Given the description of an element on the screen output the (x, y) to click on. 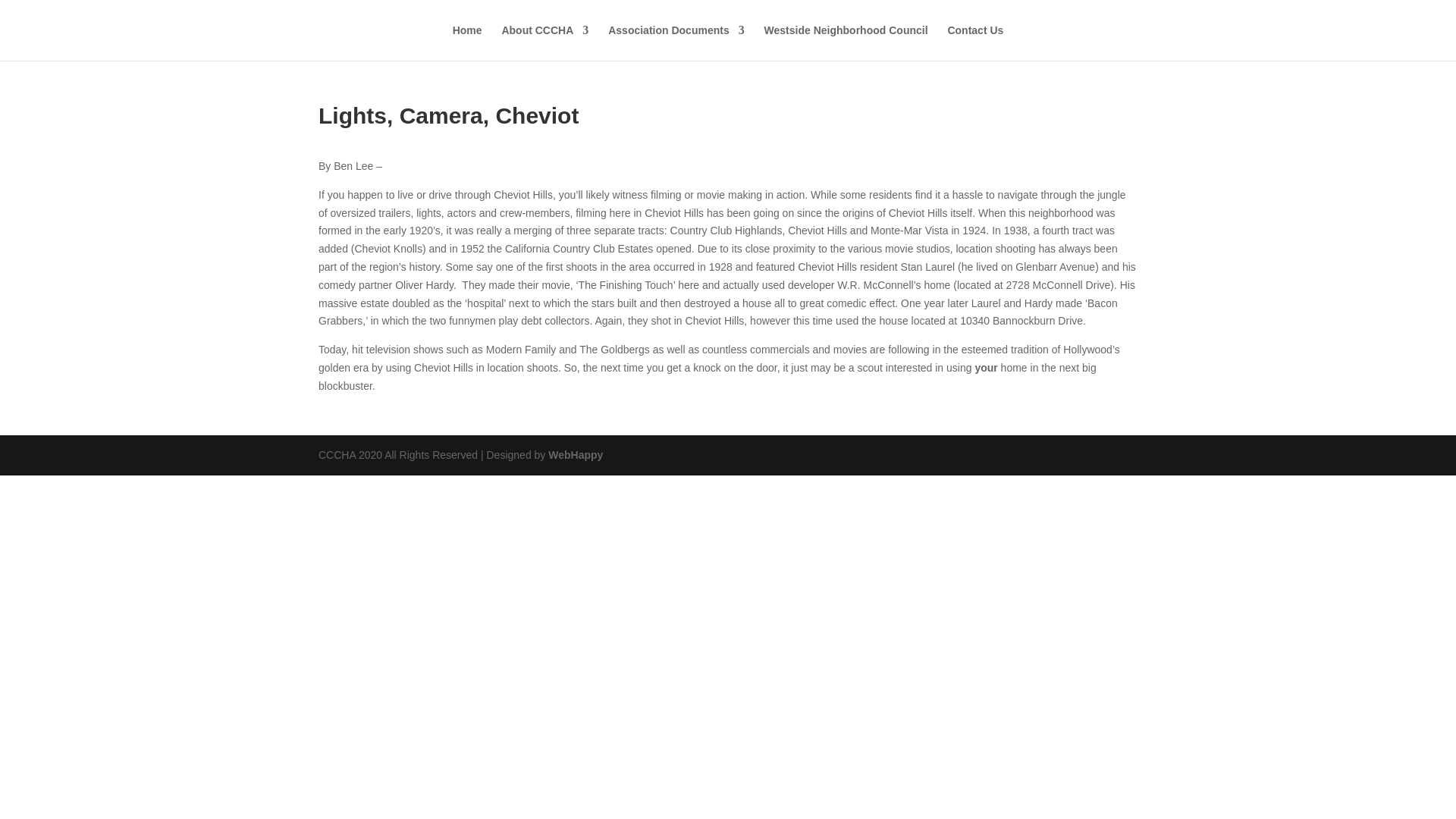
Contact Us (975, 42)
Westside Neighborhood Council (846, 42)
WebHappy (575, 454)
Association Documents (676, 42)
About CCCHA (544, 42)
